Given the description of an element on the screen output the (x, y) to click on. 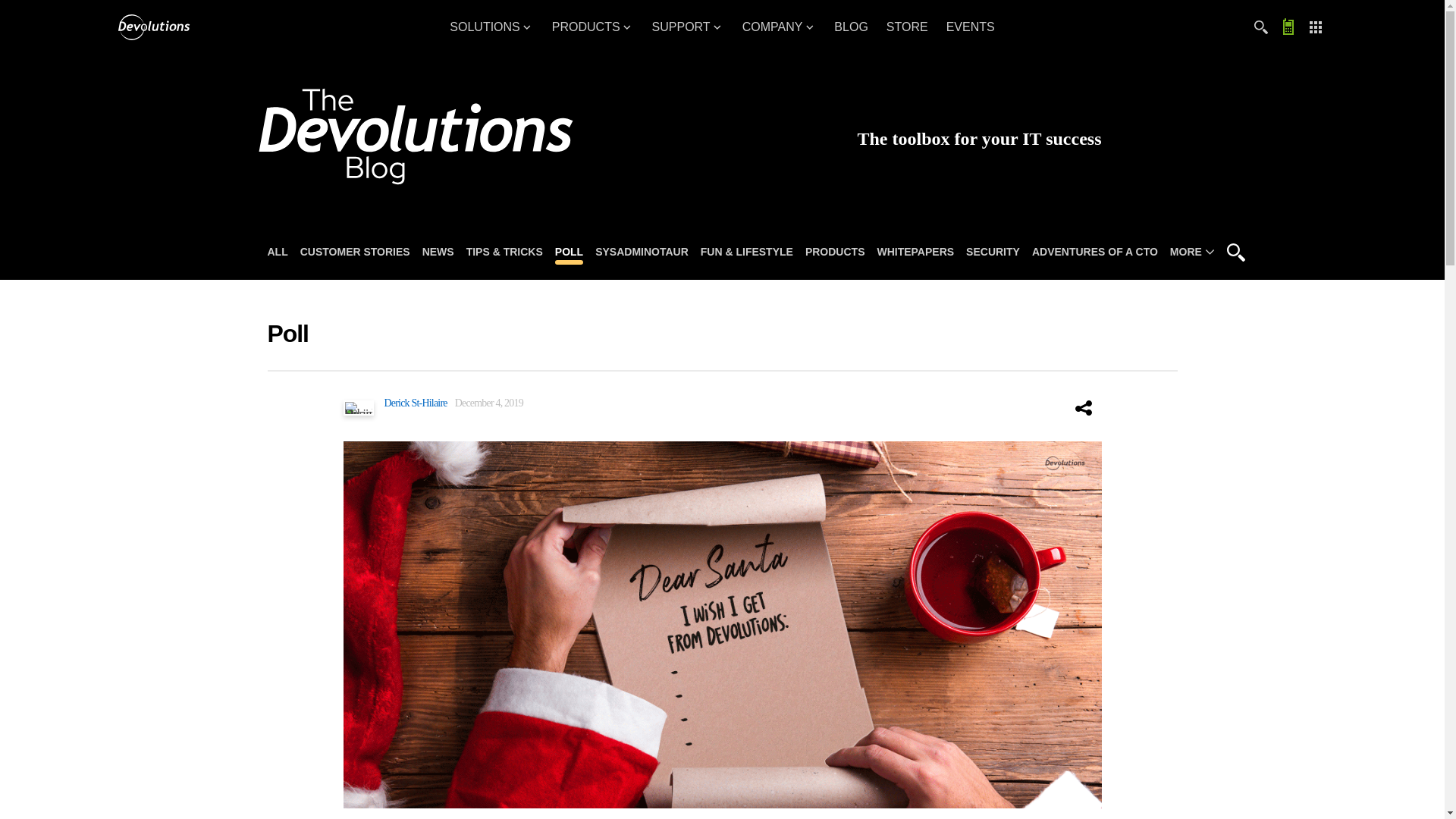
SOLUTIONS (491, 27)
SUPPORT (688, 27)
PRODUCTS (593, 27)
